Given the description of an element on the screen output the (x, y) to click on. 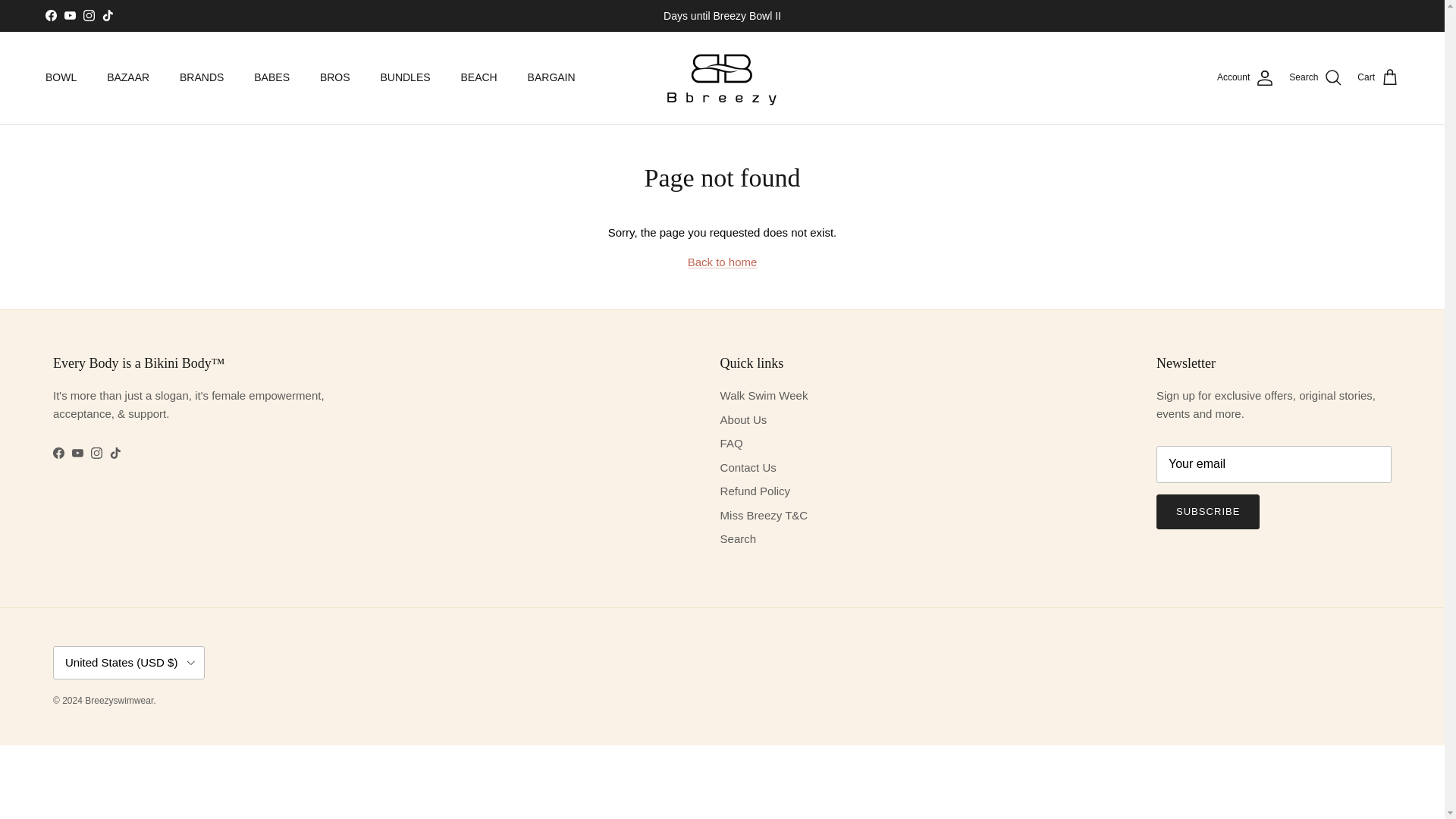
BOWL (61, 77)
TikTok (107, 15)
YouTube (69, 15)
Breezyswimwear on Instagram (95, 452)
Search (1315, 77)
Instagram (88, 15)
BUNDLES (405, 77)
Account (1245, 77)
Breezyswimwear (722, 77)
Breezyswimwear on YouTube (69, 15)
BABES (271, 77)
BRANDS (201, 77)
BARGAIN (551, 77)
BROS (334, 77)
BAZAAR (128, 77)
